Given the description of an element on the screen output the (x, y) to click on. 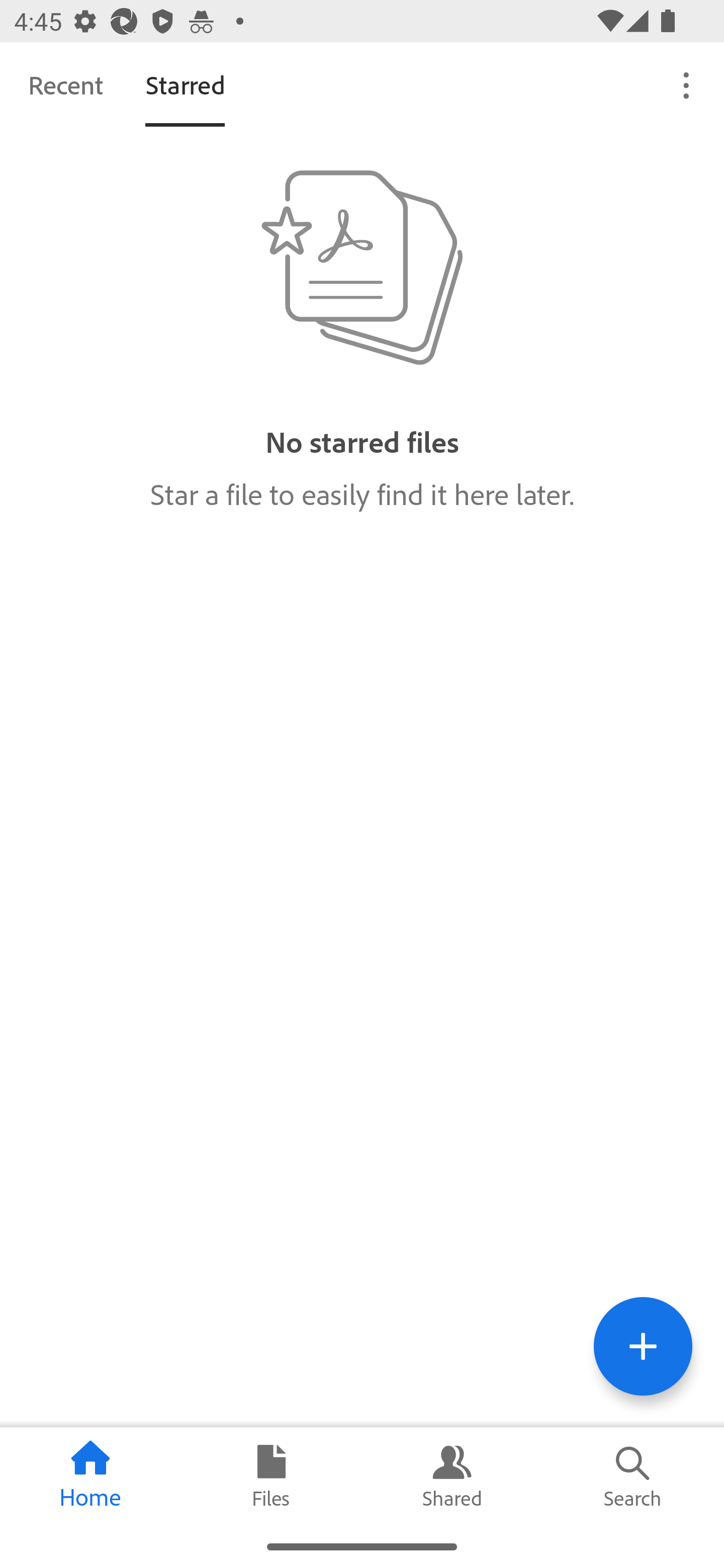
Recent (65, 84)
Starred (185, 84)
Overflow (687, 84)
Tools (642, 1345)
Home (90, 1475)
Files (271, 1475)
Shared (452, 1475)
Search (633, 1475)
